Given the description of an element on the screen output the (x, y) to click on. 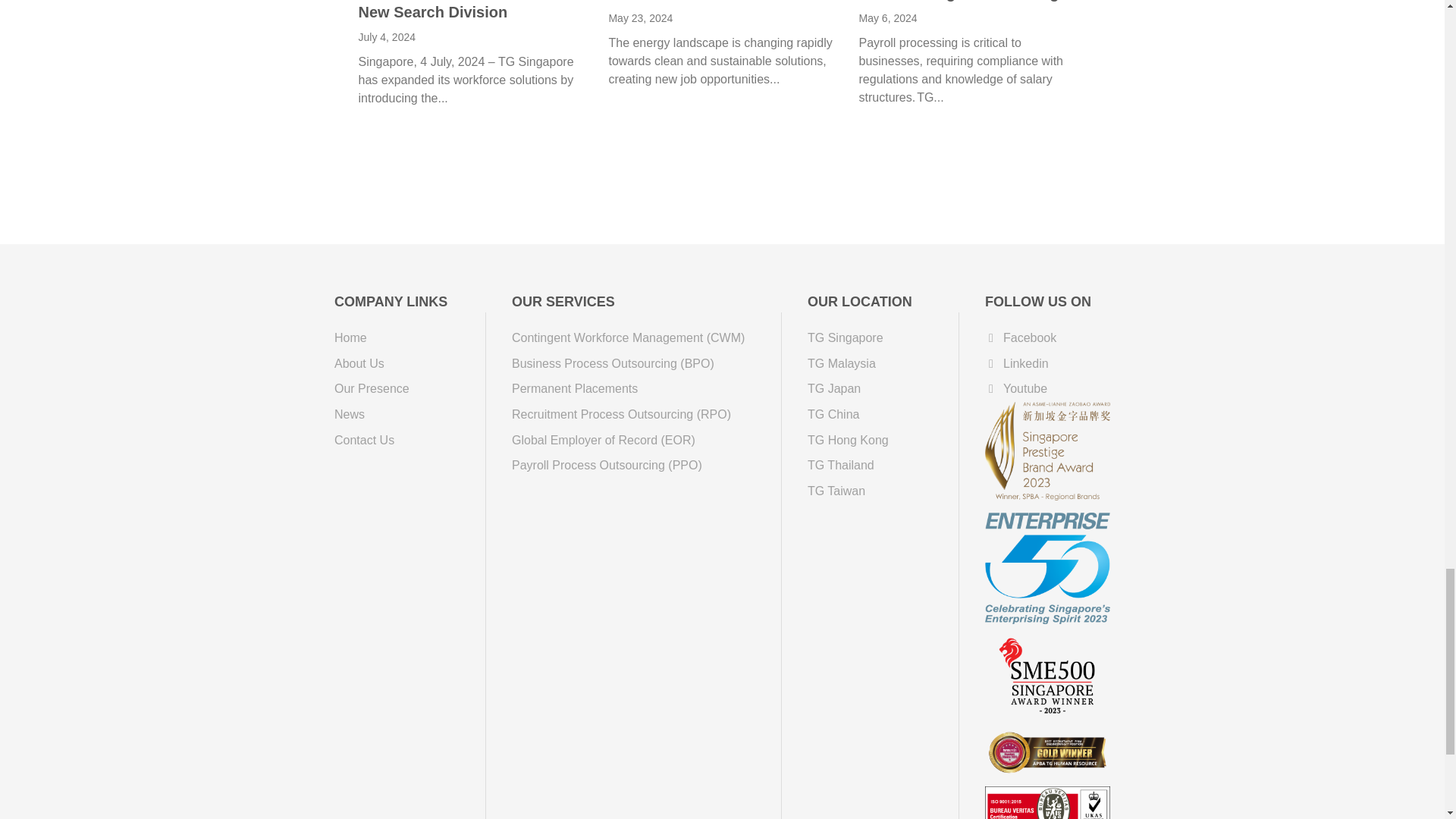
Home (411, 338)
About Us (411, 363)
News (411, 414)
Our Presence (411, 389)
Contact Us (411, 440)
